Given the description of an element on the screen output the (x, y) to click on. 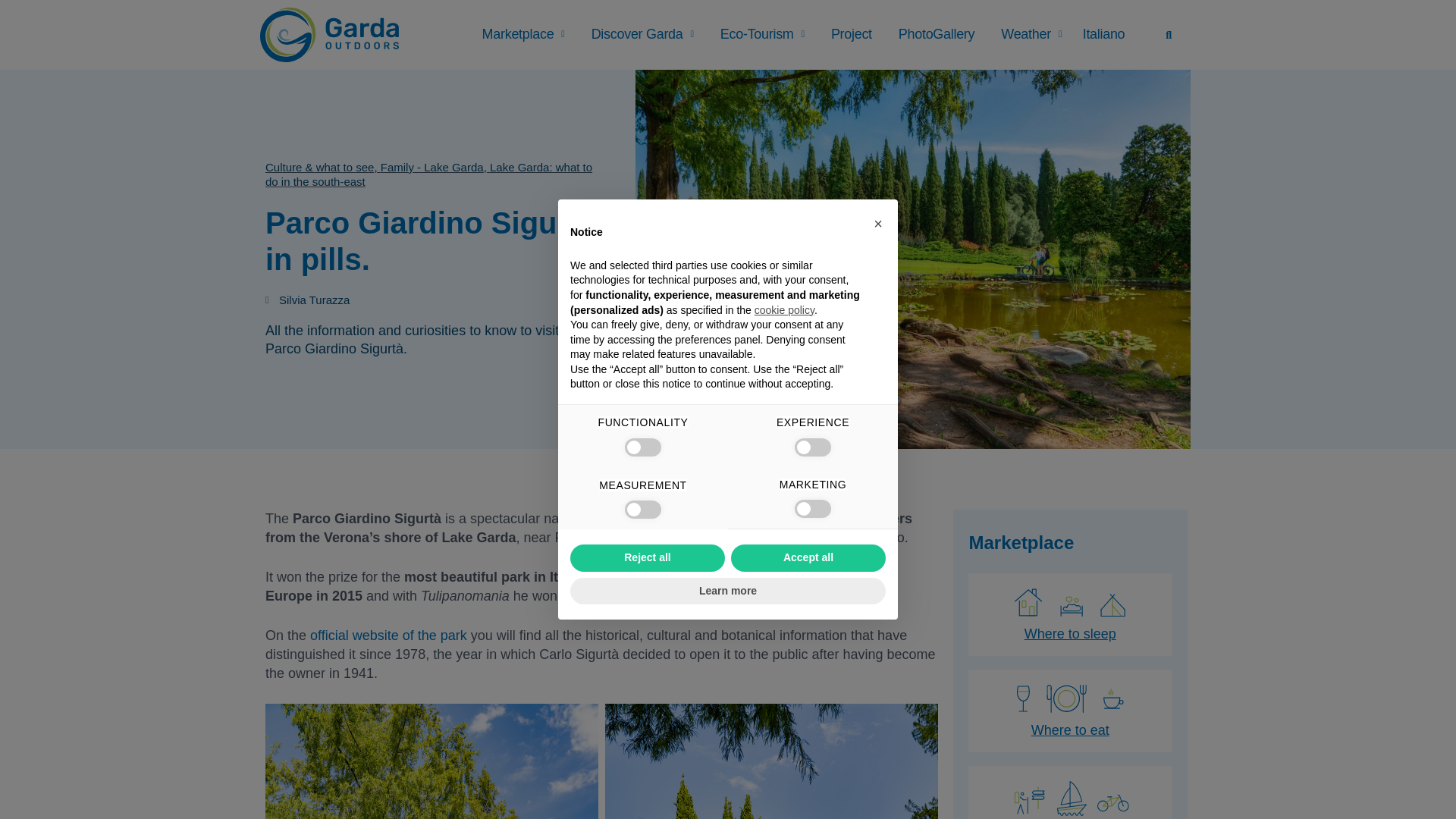
false (642, 509)
PhotoGallery (936, 34)
false (642, 447)
cookie policy (783, 309)
Marketplace (523, 34)
Discover Garda (642, 34)
false (812, 508)
Accept all (807, 557)
Project (851, 34)
Eco-Tourism (762, 34)
